Given the description of an element on the screen output the (x, y) to click on. 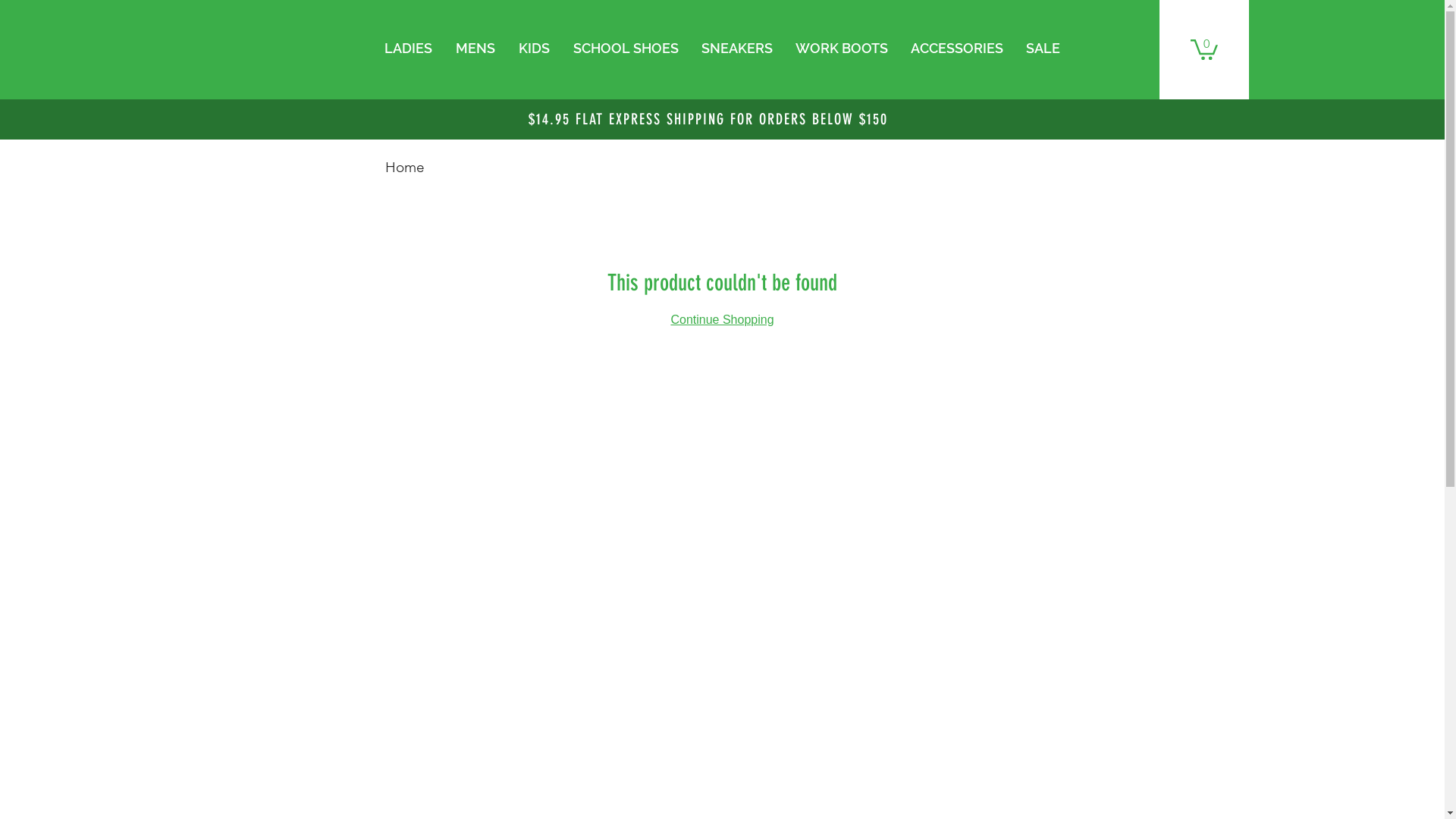
$14.95 FLAT EXPRESS SHIPPING FOR ORDERS BELOW $150 Element type: text (708, 118)
ACCESSORIES Element type: text (956, 48)
0 Element type: text (1203, 48)
MENS Element type: text (475, 48)
Continue Shopping Element type: text (721, 319)
SCHOOL SHOES Element type: text (625, 48)
LADIES Element type: text (408, 48)
KIDS Element type: text (533, 48)
SNEAKERS Element type: text (737, 48)
WORK BOOTS Element type: text (841, 48)
SALE Element type: text (1042, 48)
Home Element type: text (404, 166)
